Given the description of an element on the screen output the (x, y) to click on. 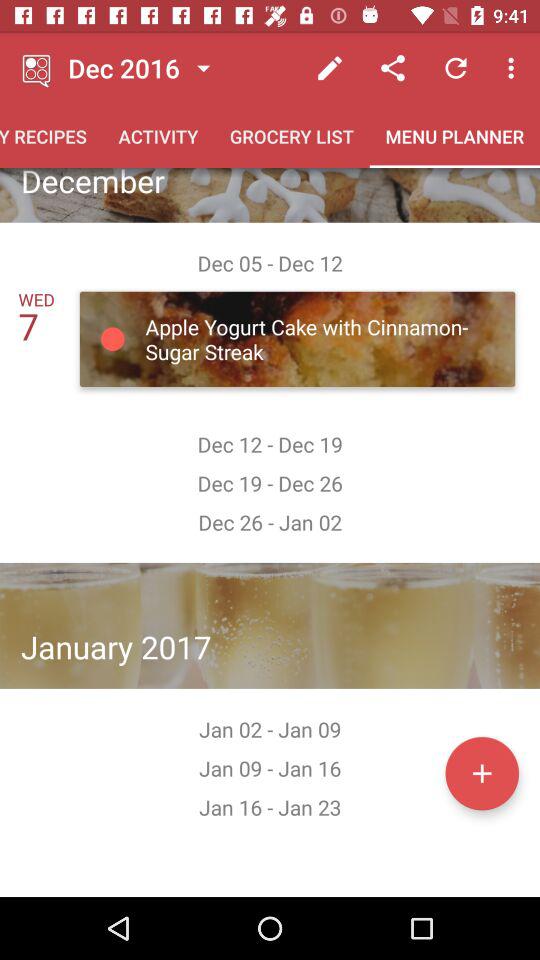
add date (482, 773)
